Given the description of an element on the screen output the (x, y) to click on. 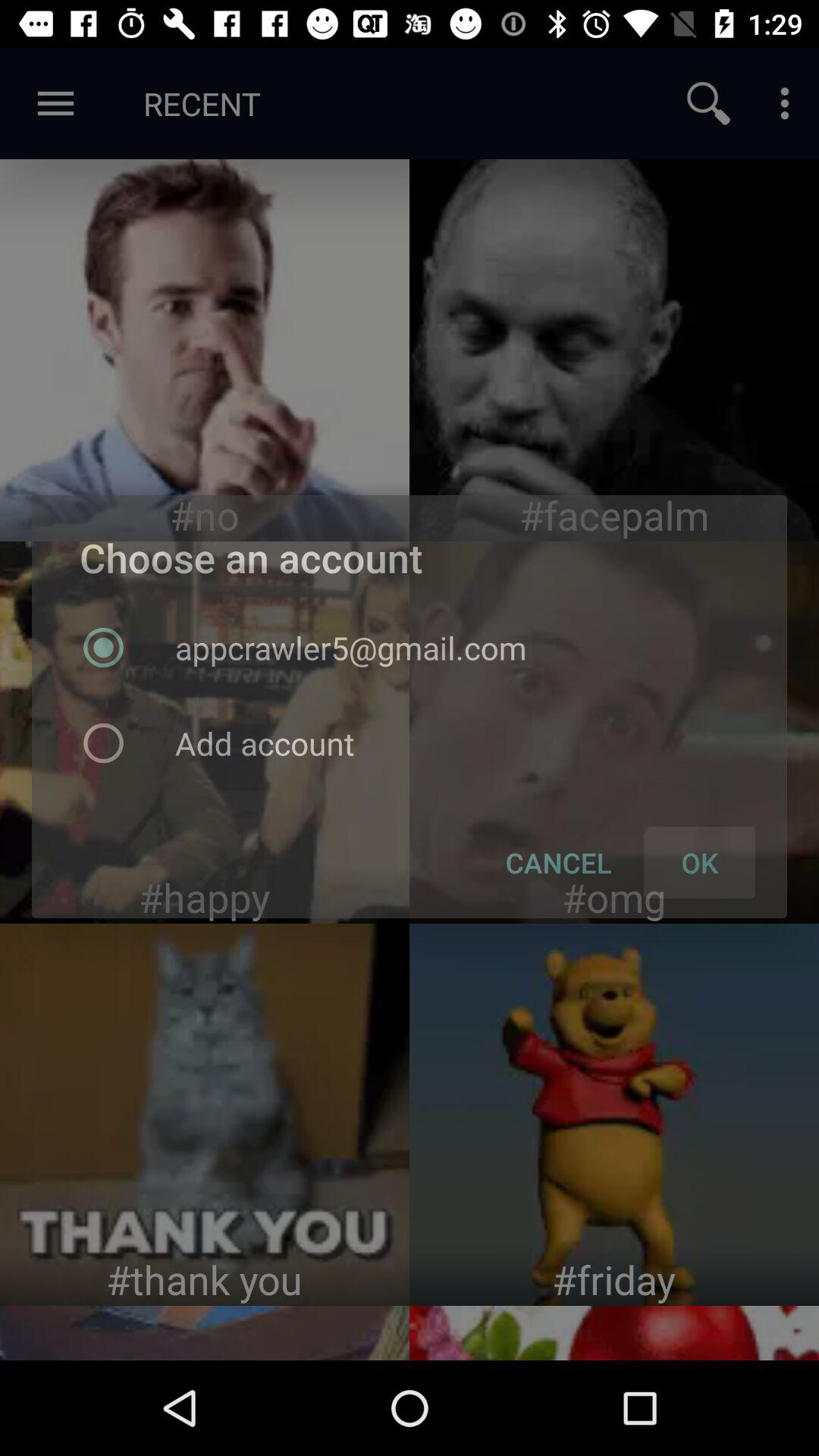
select image (204, 350)
